Given the description of an element on the screen output the (x, y) to click on. 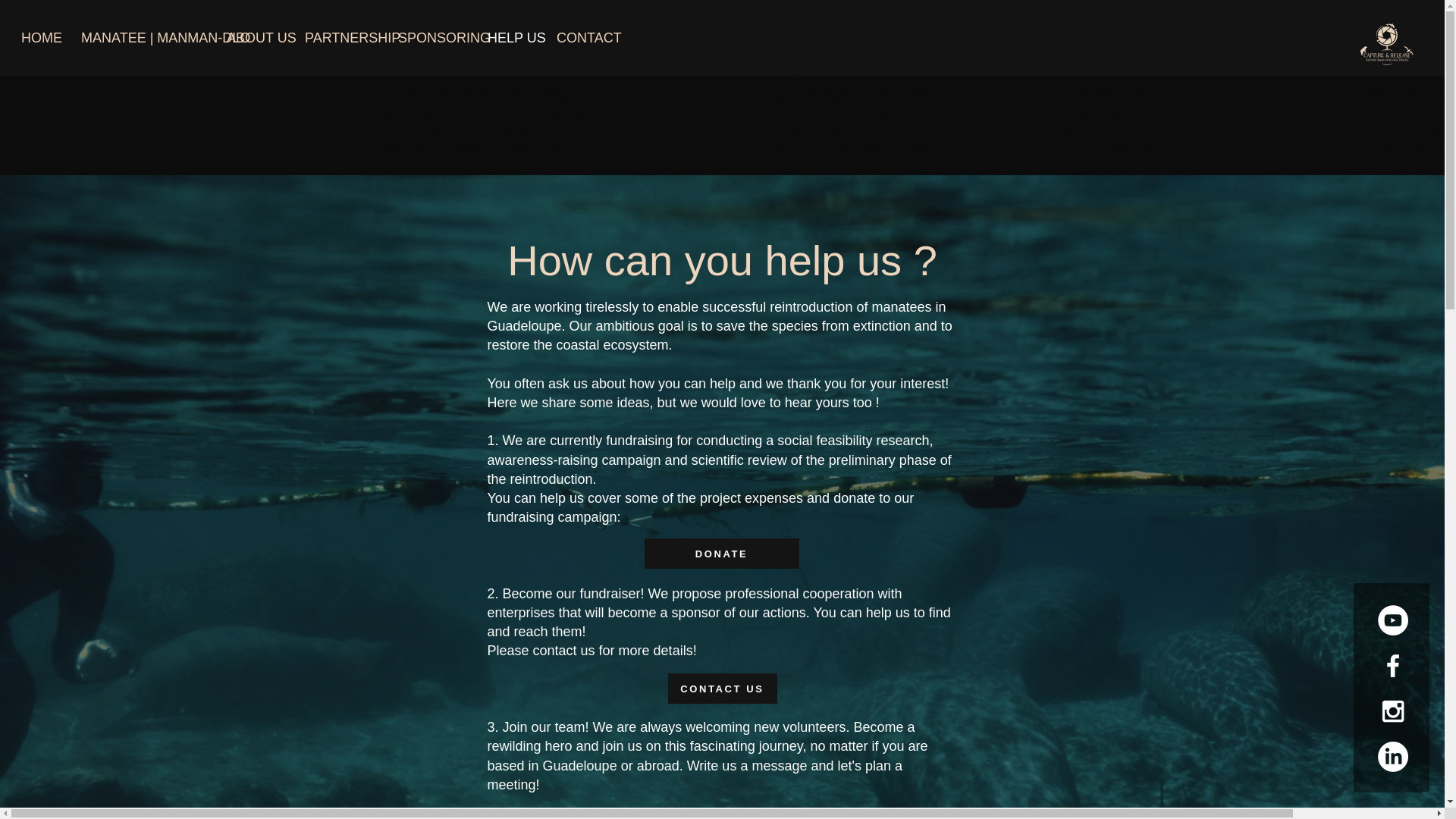
HOME (39, 37)
DONATE (722, 553)
CONTACT (582, 37)
ABOUT US (254, 37)
PARTNERSHIP (340, 37)
HELP US (510, 37)
SPONSORING (431, 37)
CONTACT US (721, 688)
